Given the description of an element on the screen output the (x, y) to click on. 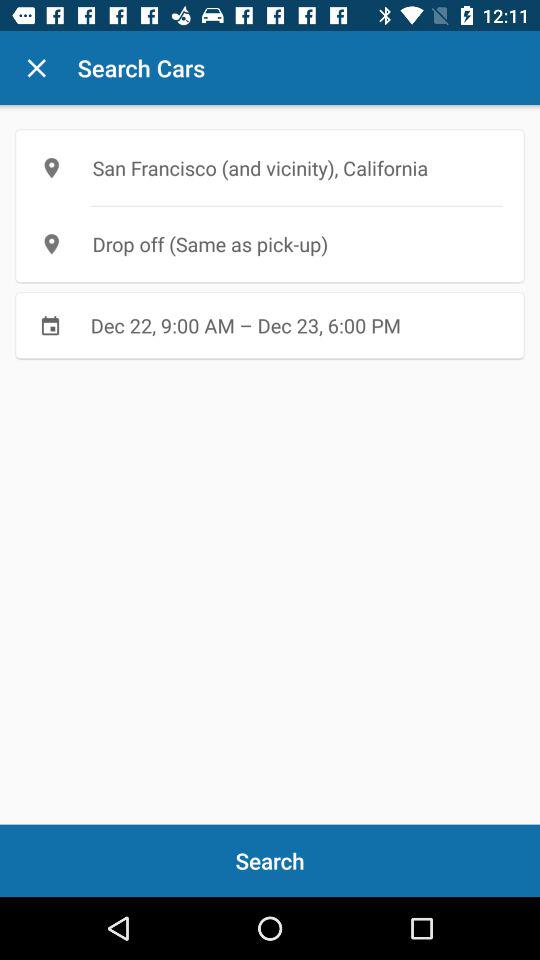
turn off item below the san francisco and icon (269, 244)
